Given the description of an element on the screen output the (x, y) to click on. 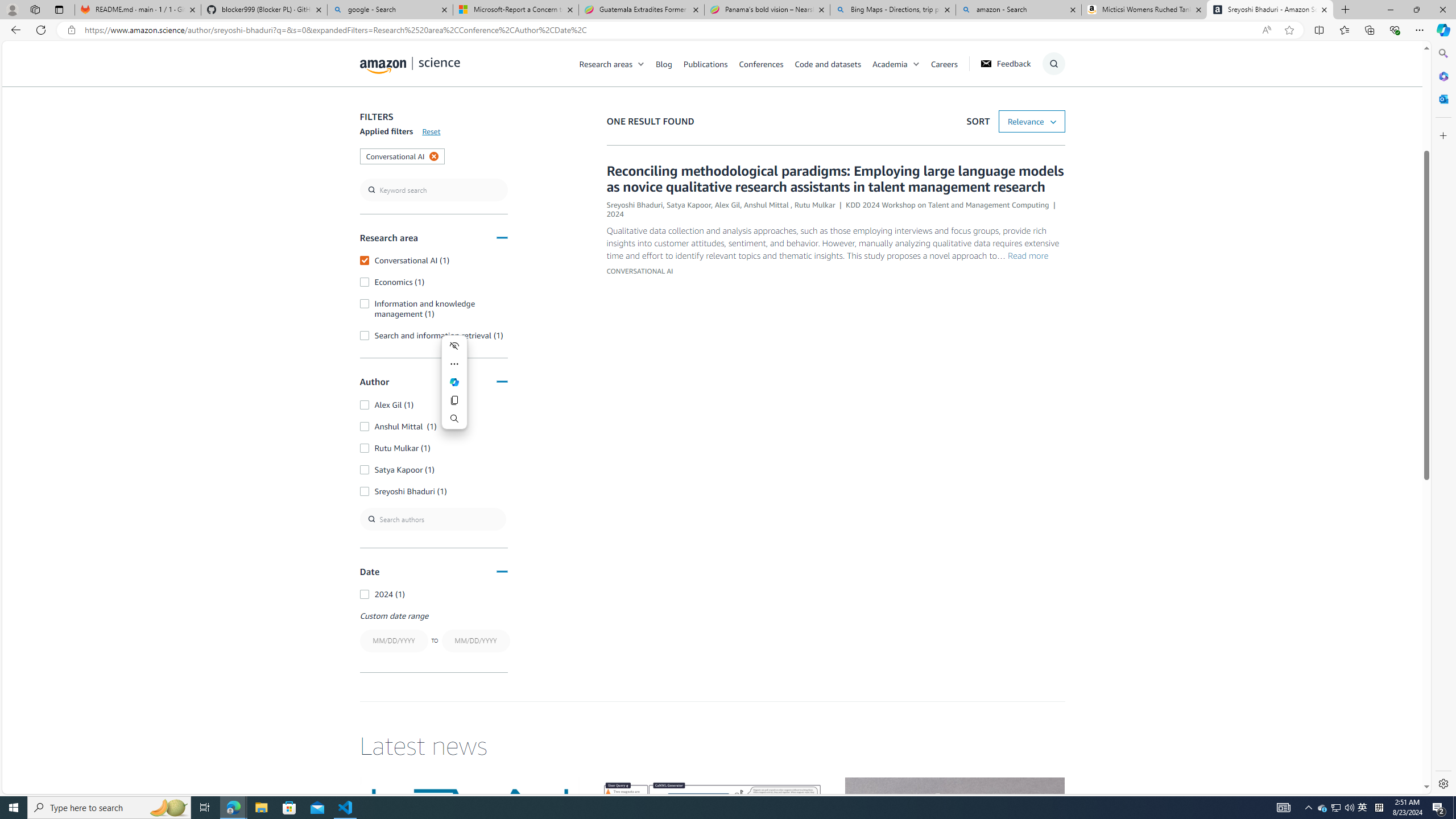
Hide menu (454, 345)
App bar (728, 29)
Back (13, 29)
SORT (1031, 121)
Rutu Mulkar (814, 204)
Copy (454, 400)
Personal Profile (12, 9)
Settings (1442, 783)
Close (1442, 9)
